Given the description of an element on the screen output the (x, y) to click on. 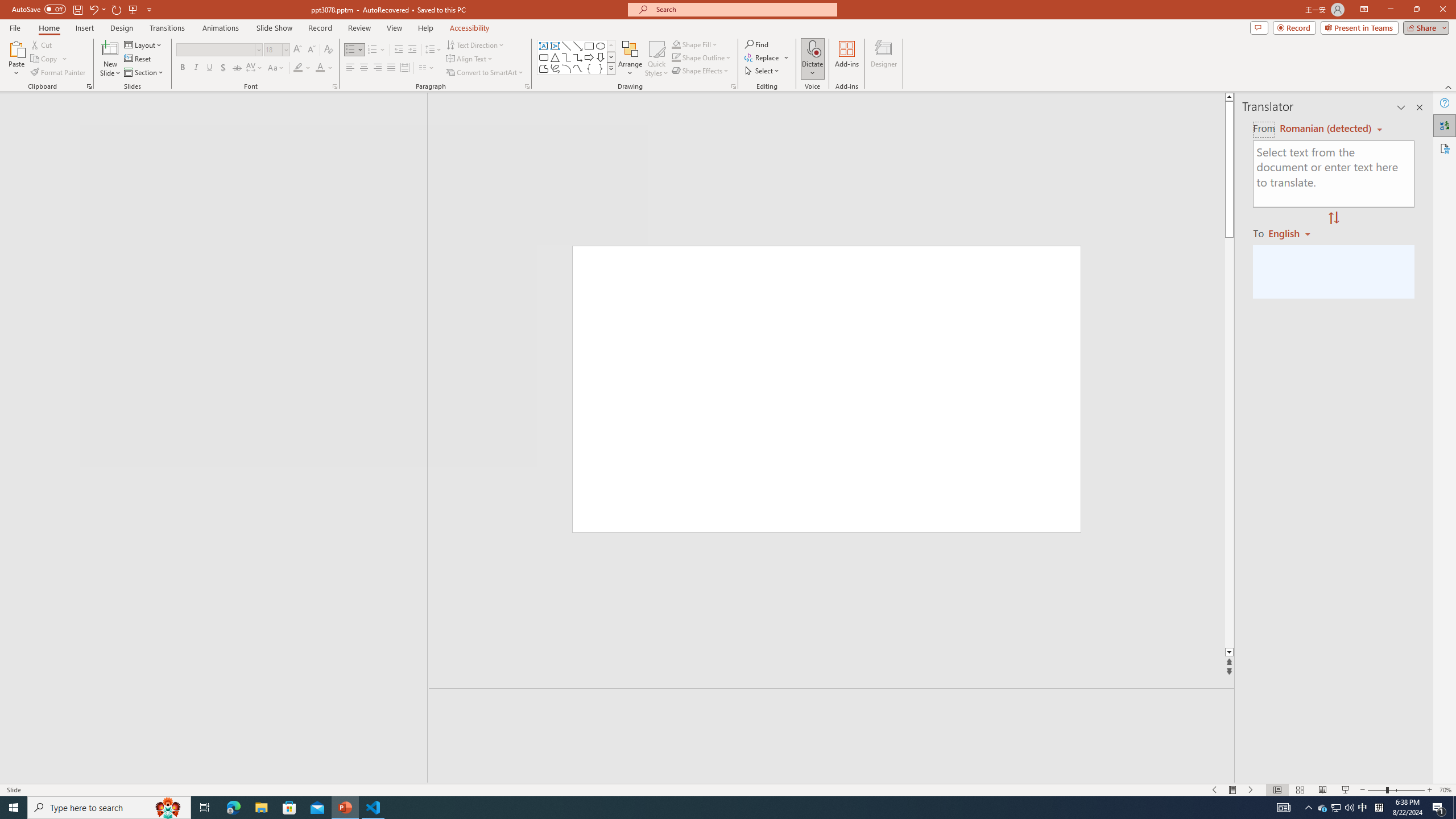
Slide Show Next On (1250, 790)
